Given the description of an element on the screen output the (x, y) to click on. 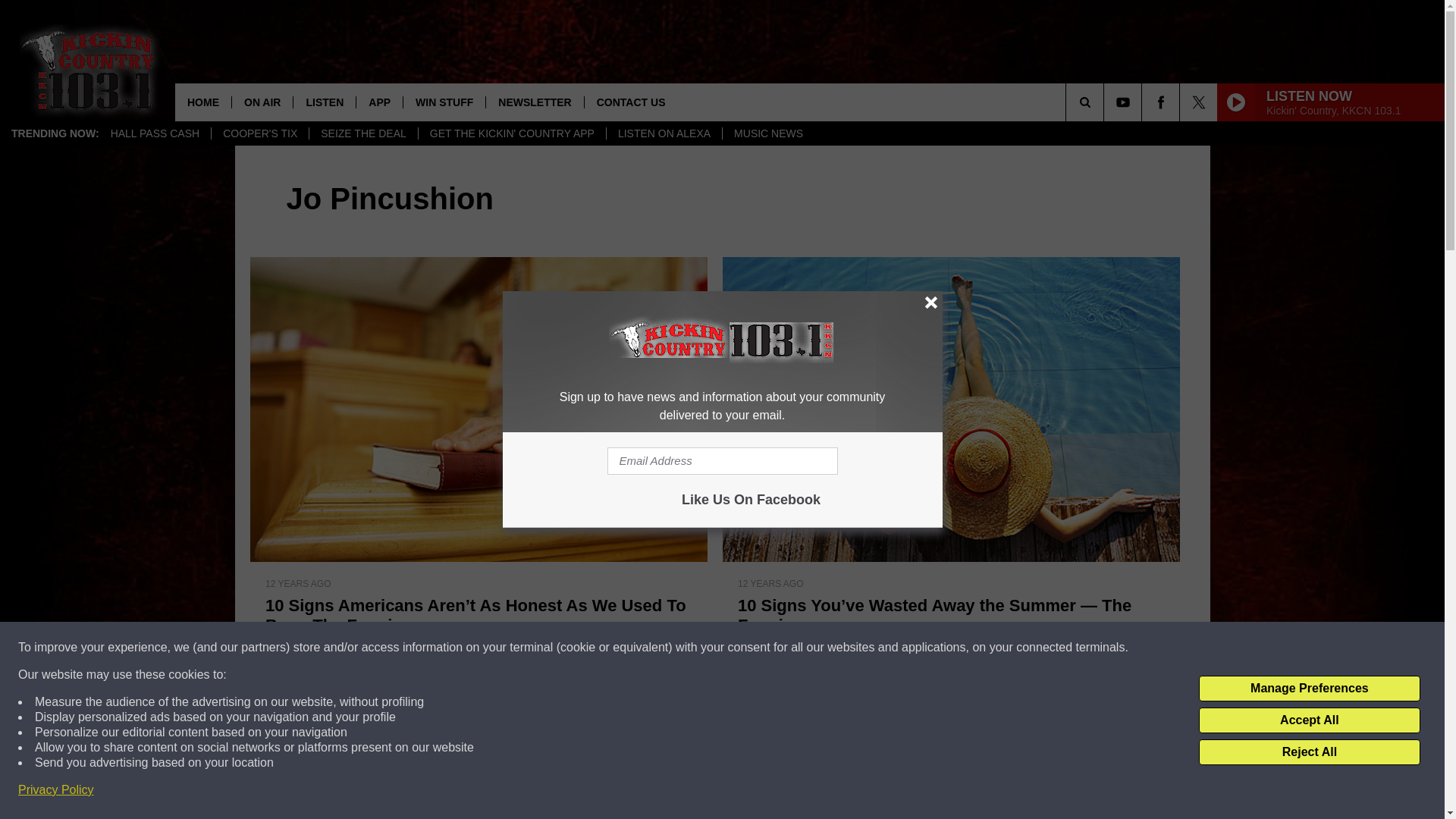
CONTACT US (630, 102)
Email Address (722, 461)
LISTEN ON ALEXA (663, 133)
WIN STUFF (443, 102)
ON AIR (261, 102)
COOPER'S TIX (259, 133)
NEWSLETTER (533, 102)
APP (379, 102)
SEARCH (1106, 102)
HOME (202, 102)
Privacy Policy (55, 789)
SEIZE THE DEAL (362, 133)
SEARCH (1106, 102)
GET THE KICKIN' COUNTRY APP (511, 133)
Accept All (1309, 720)
